Given the description of an element on the screen output the (x, y) to click on. 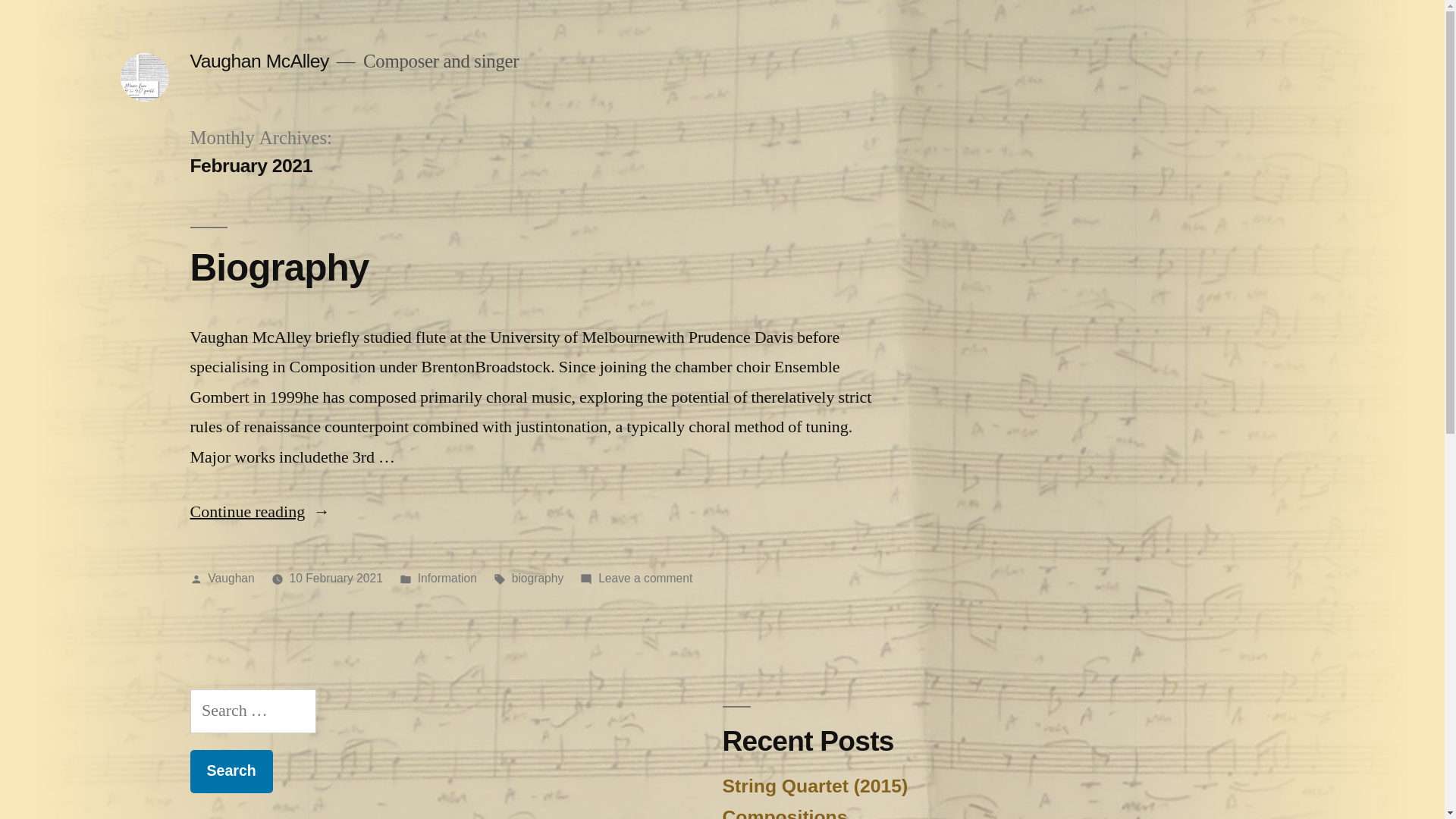
String Quartet (2015) Element type: text (814, 785)
Information Element type: text (446, 577)
10 February 2021 Element type: text (335, 577)
Search Element type: text (230, 771)
Vaughan McAlley Element type: text (258, 60)
Vaughan Element type: text (230, 577)
biography Element type: text (537, 577)
Biography Element type: text (278, 267)
Leave a comment
on Biography Element type: text (645, 577)
